Given the description of an element on the screen output the (x, y) to click on. 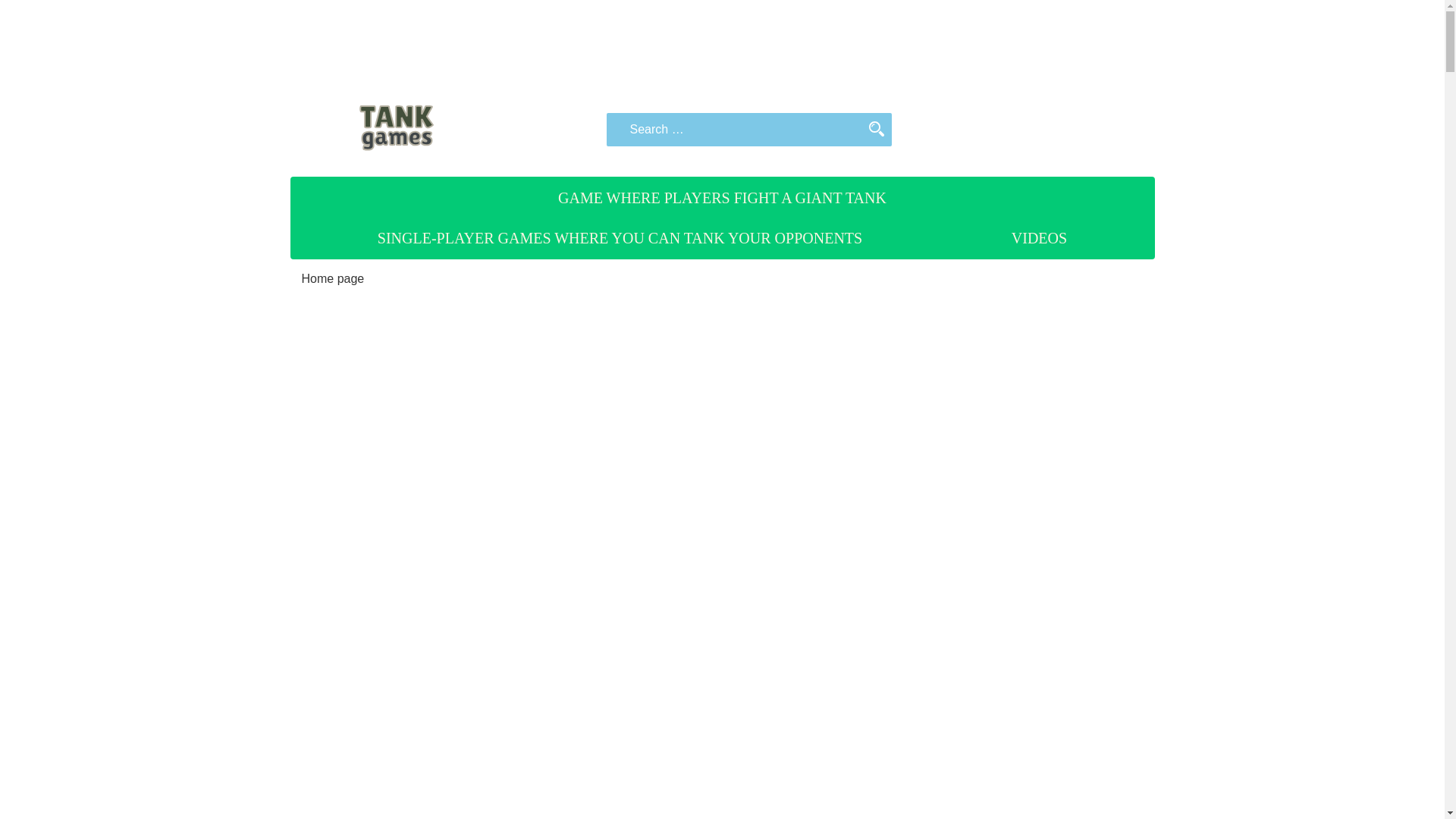
GAME WHERE PLAYERS FIGHT A GIANT TANK (722, 197)
Home page (333, 278)
SINGLE-PLAYER GAMES WHERE YOU CAN TANK YOUR OPPONENTS (619, 237)
VIDEOS (1039, 237)
